Given the description of an element on the screen output the (x, y) to click on. 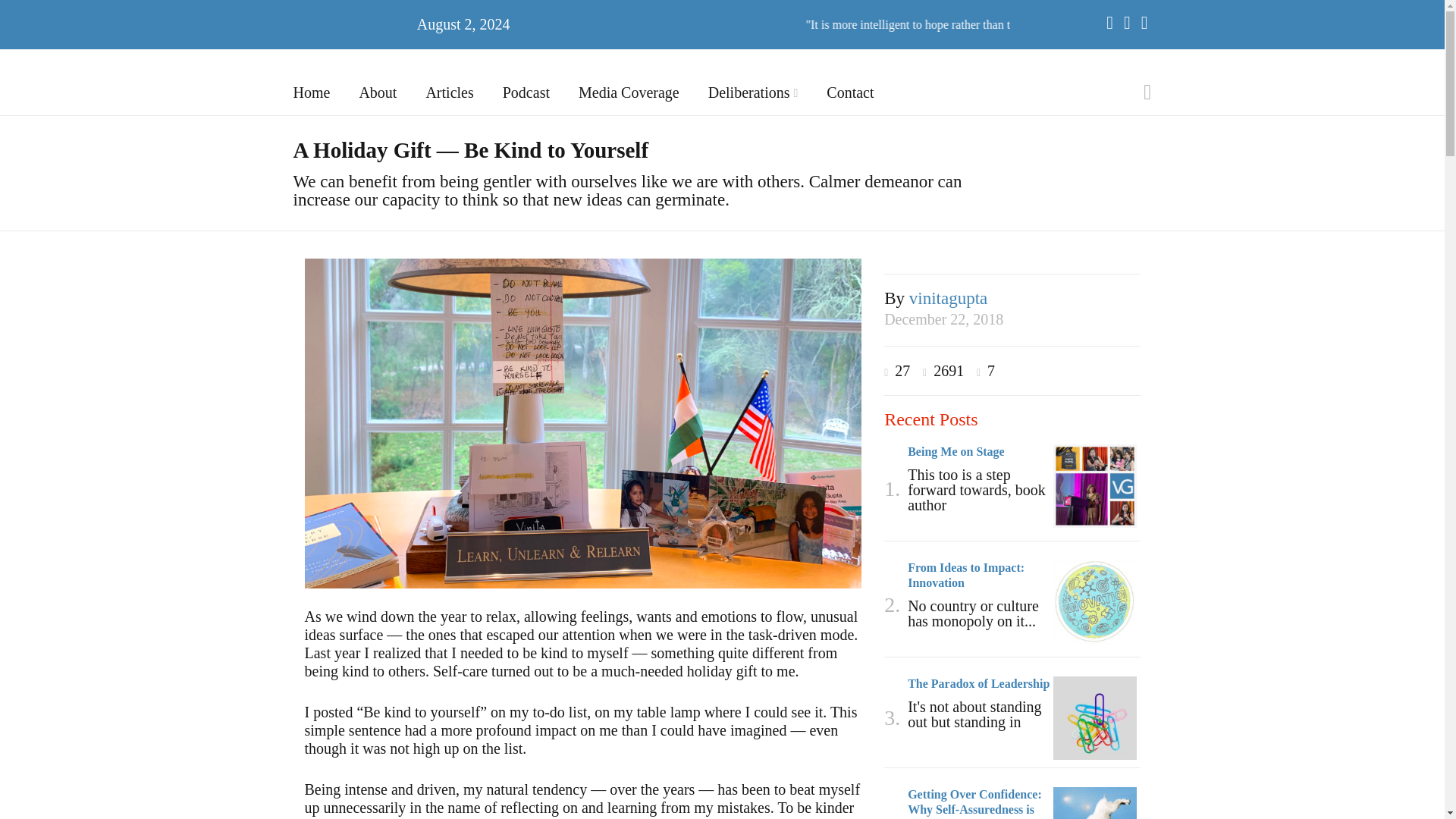
August 2, 2024 (463, 24)
